Given the description of an element on the screen output the (x, y) to click on. 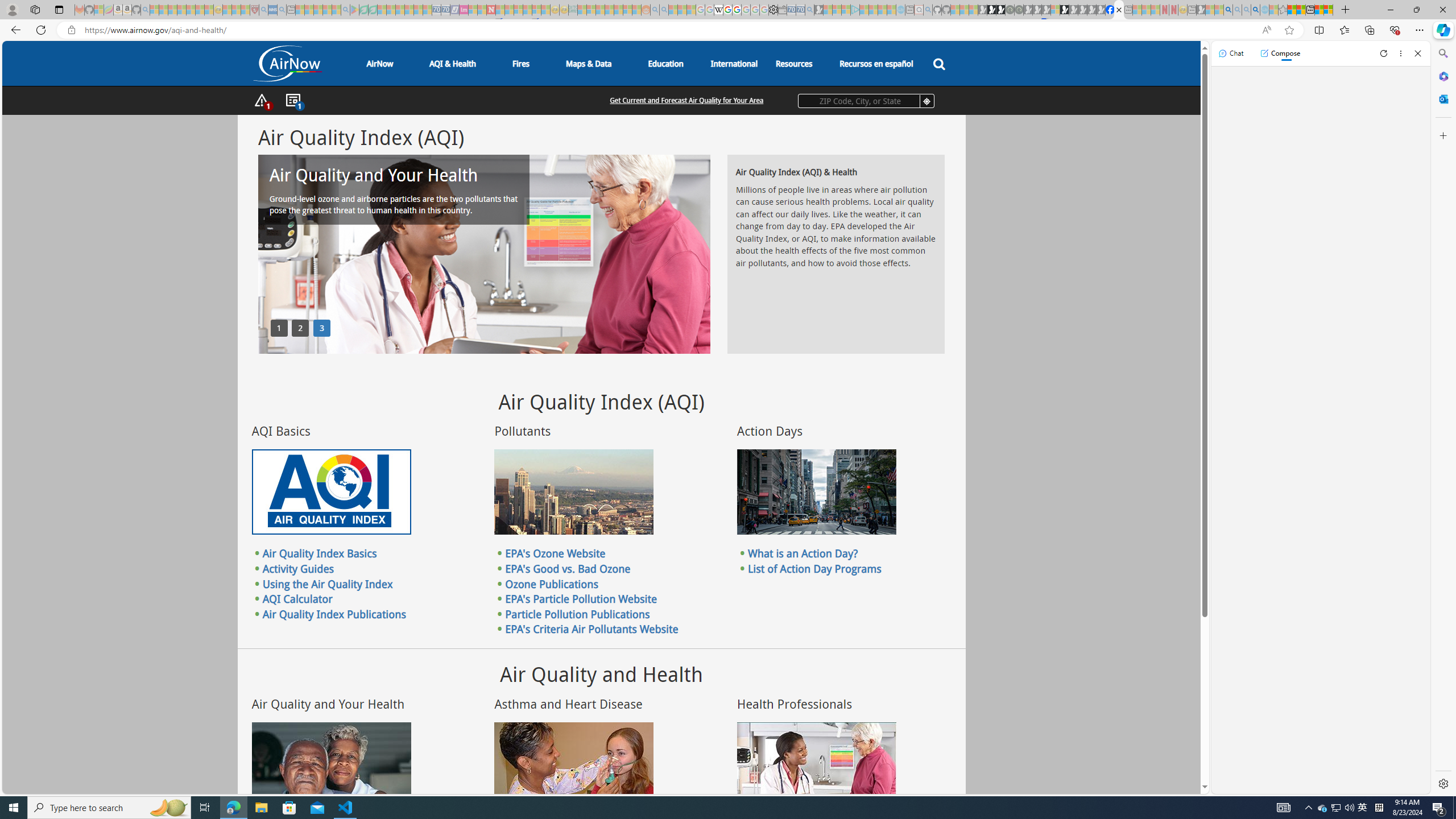
EPA's Criteria Air Pollutants Website (591, 629)
EPA's Particle Pollution Website (581, 598)
Chat (1230, 52)
Air Now Logo (286, 63)
